Given the description of an element on the screen output the (x, y) to click on. 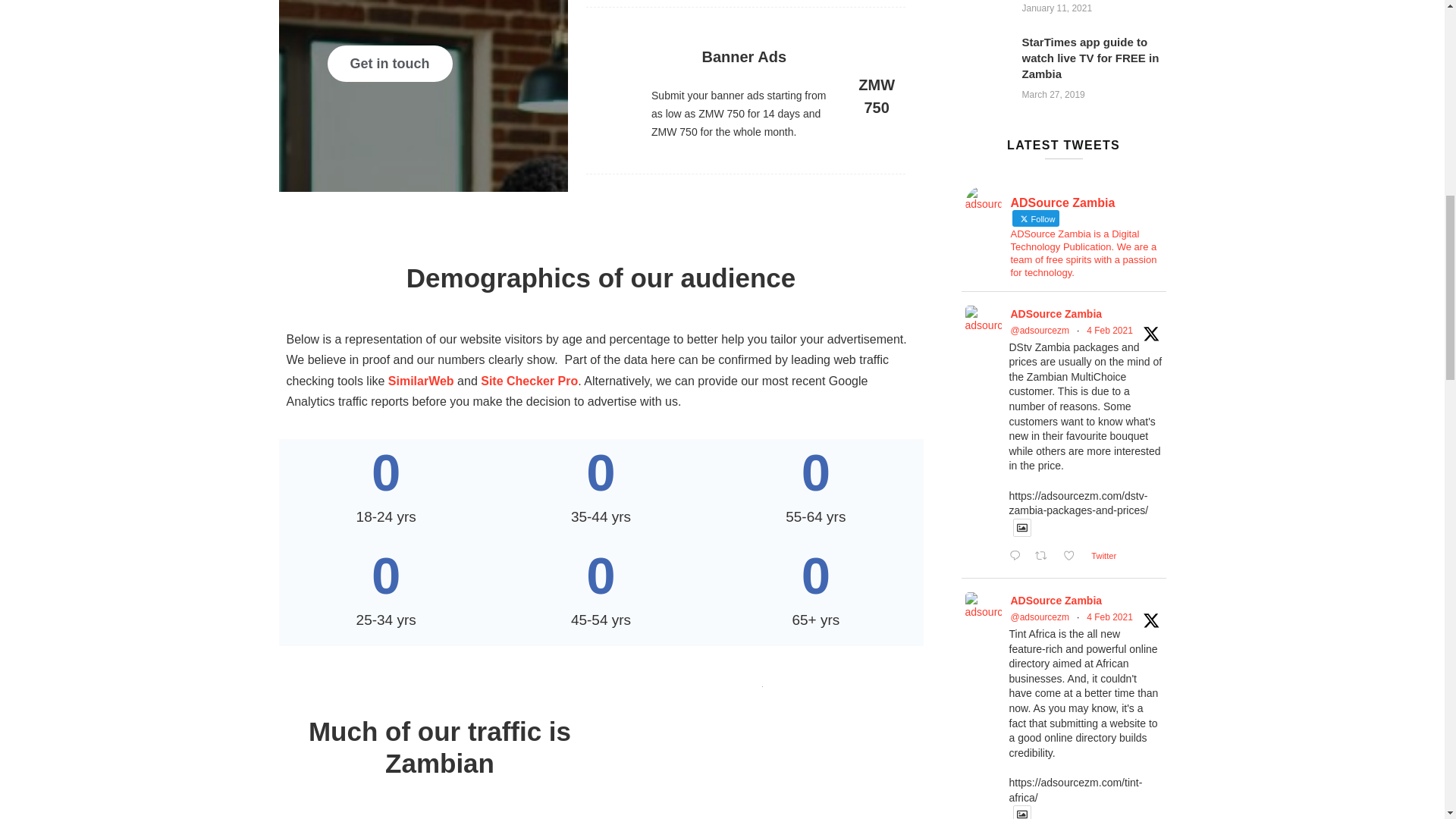
March 27, 2019 at 6:44 pm (1053, 94)
January 11, 2021 at 9:57 pm (1057, 8)
SimilarWeb (421, 380)
StarTimes app guide to watch live TV for FREE in Zambia (1090, 58)
Get in touch (389, 63)
Site Checker Pro (529, 380)
